Given the description of an element on the screen output the (x, y) to click on. 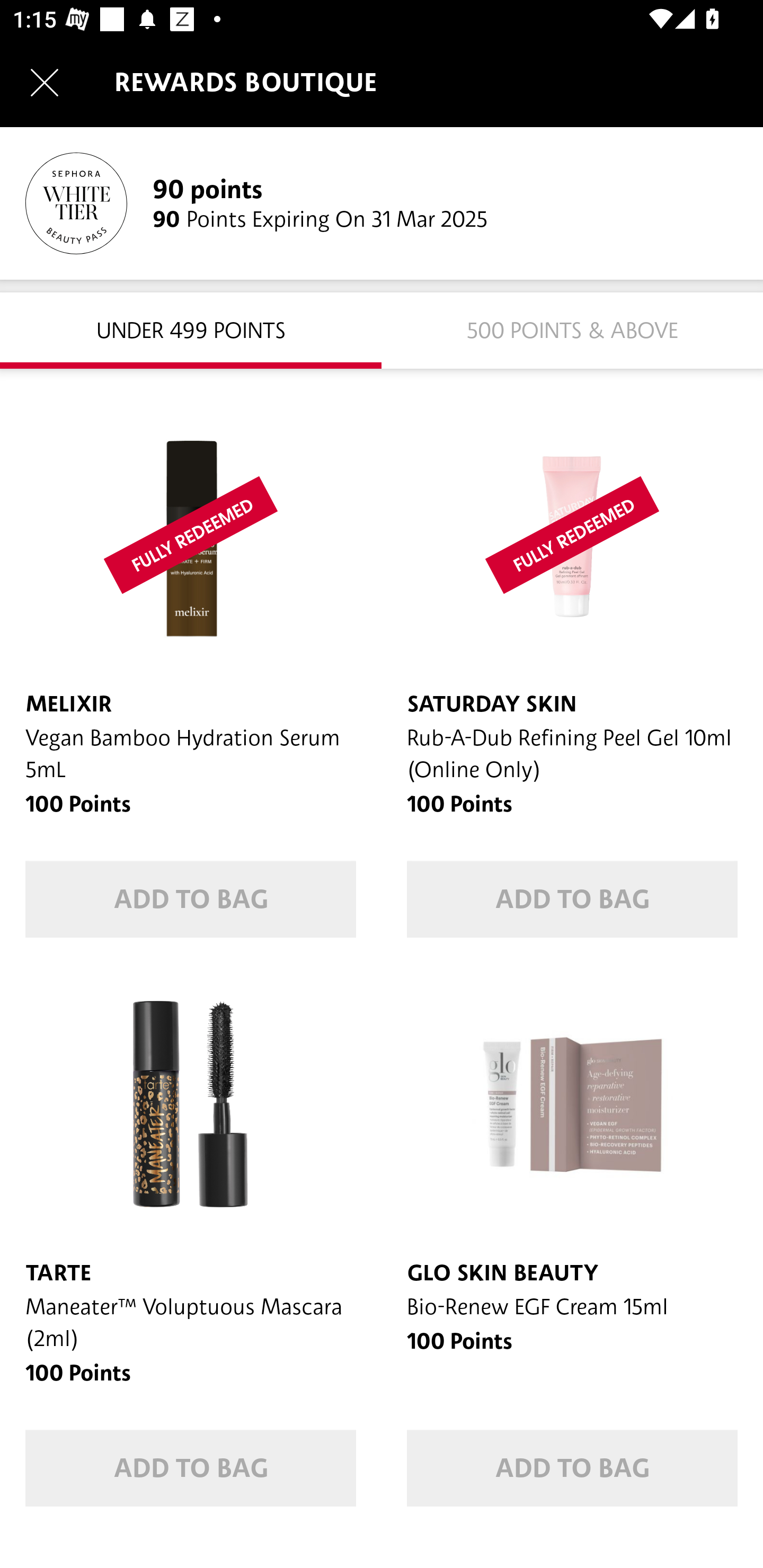
Navigate up (44, 82)
500 Points & Above 500 POINTS & ABOVE (572, 329)
ADD TO BAG (190, 898)
ADD TO BAG (571, 898)
ADD TO BAG (190, 1468)
ADD TO BAG (571, 1468)
